Given the description of an element on the screen output the (x, y) to click on. 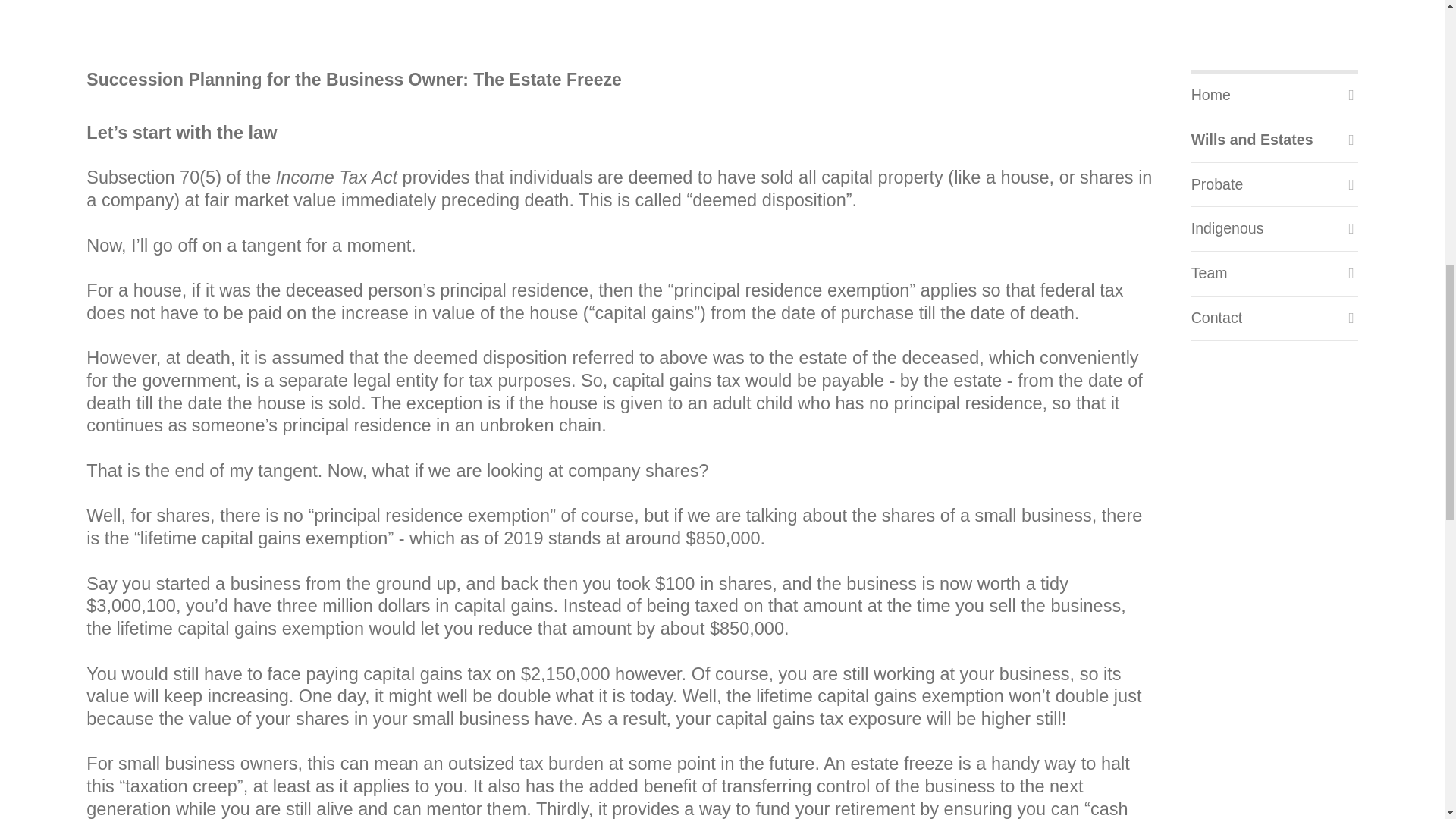
Indigenous (1274, 228)
Probate (1274, 184)
Home (1274, 95)
Contact (1274, 318)
Wills and Estates (1274, 139)
Team (1274, 273)
